Given the description of an element on the screen output the (x, y) to click on. 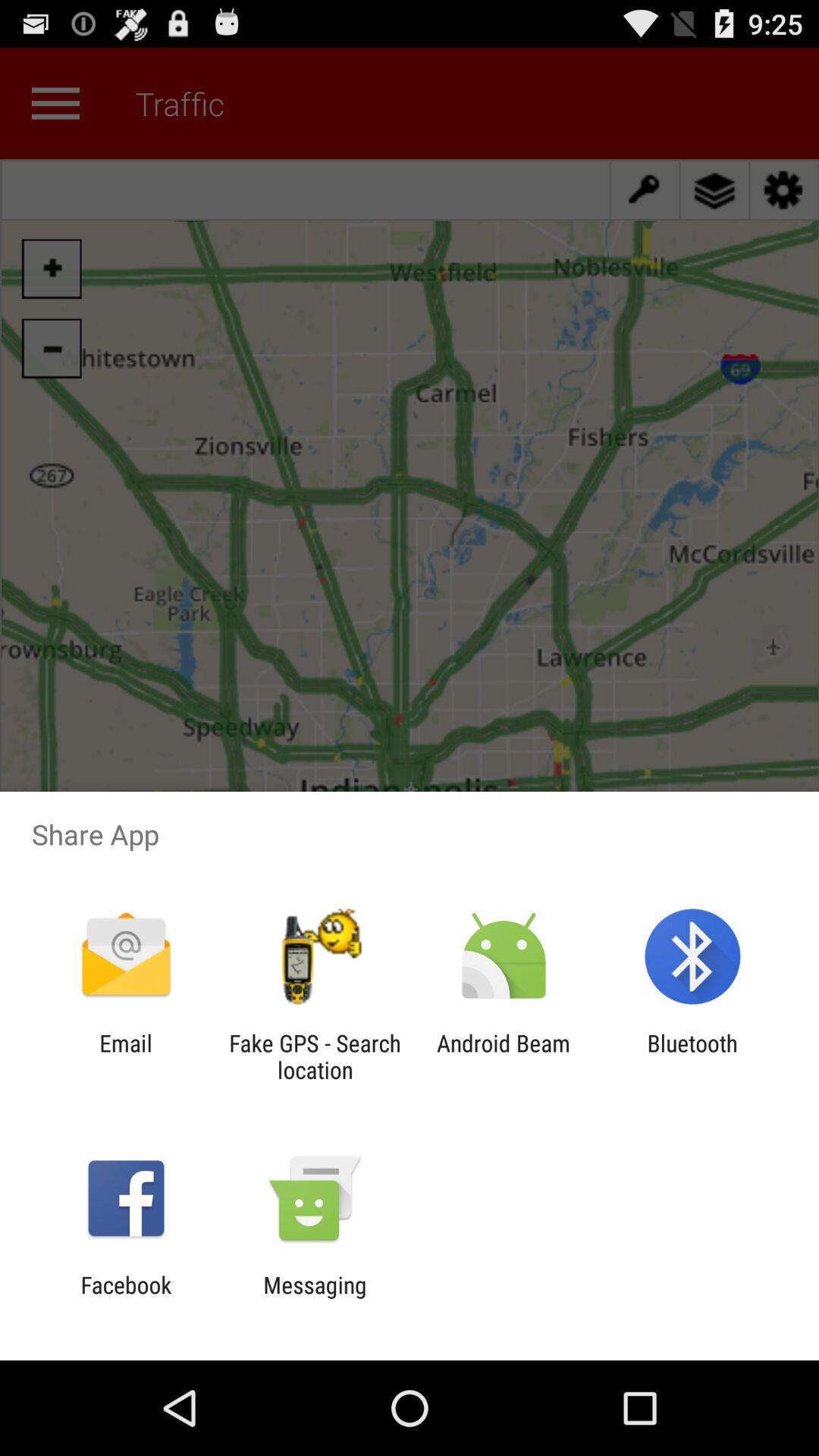
press email (125, 1056)
